Given the description of an element on the screen output the (x, y) to click on. 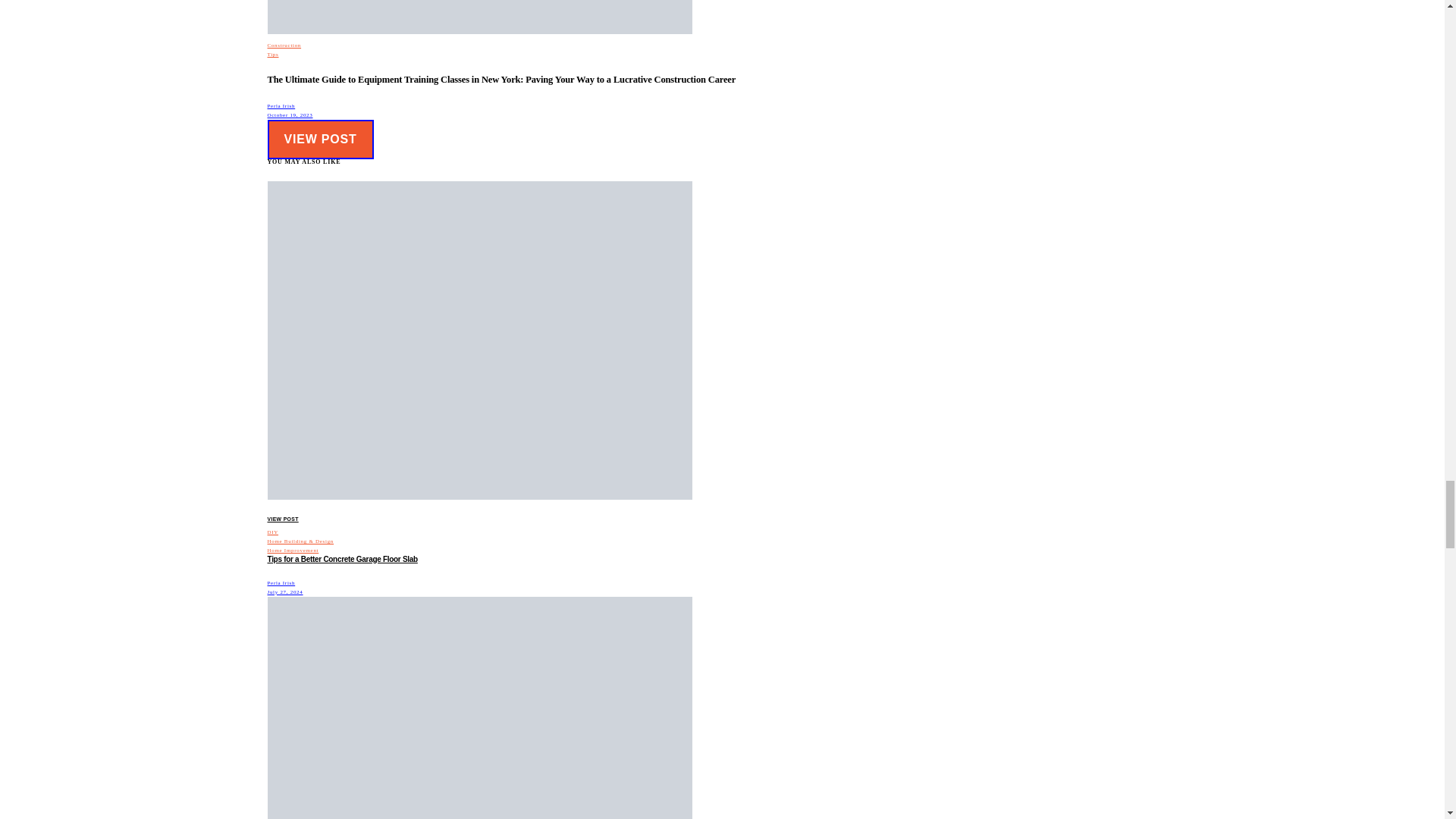
View all posts by Perla Irish (280, 582)
View all posts by Perla Irish (280, 105)
